Given the description of an element on the screen output the (x, y) to click on. 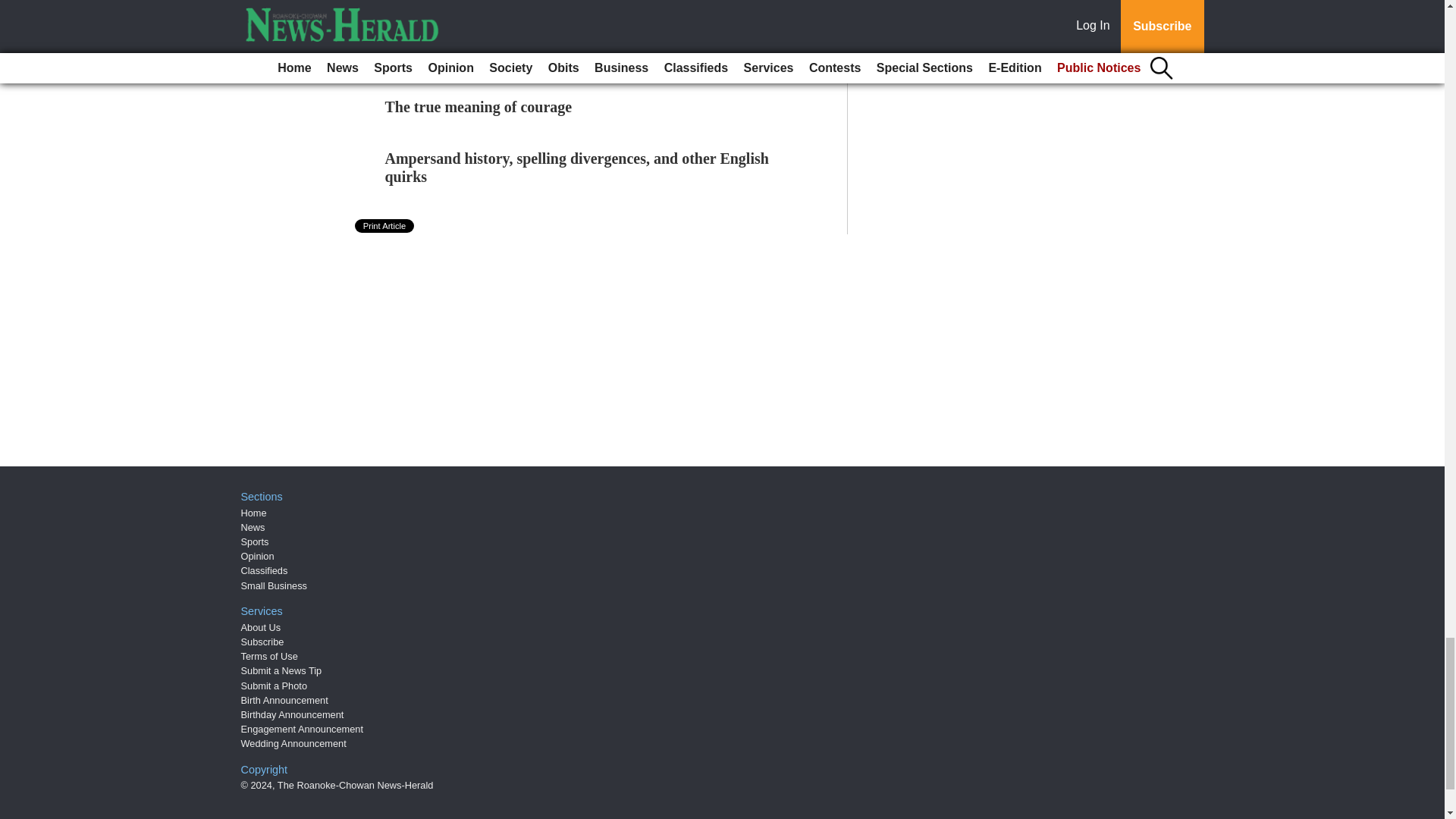
College education still has something to offer (530, 54)
The true meaning of courage (478, 106)
College education still has something to offer (530, 54)
